Given the description of an element on the screen output the (x, y) to click on. 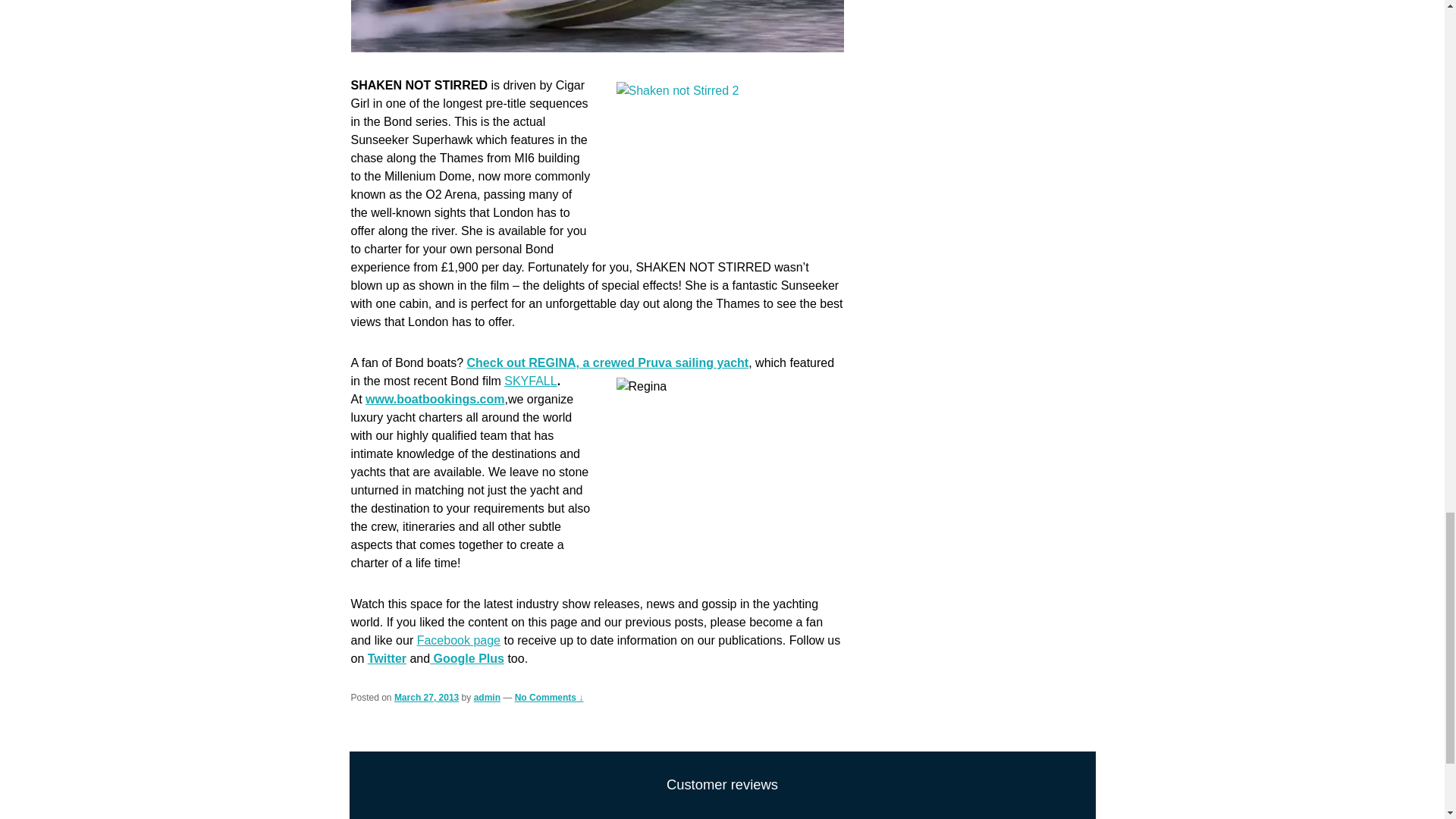
SKYFALL (529, 380)
Check out REGINA, a crewed Pruva sailing yacht (608, 362)
Charter Sunseeker SKYFALL (529, 380)
5:18 pm (426, 697)
Charter REGINA (608, 362)
Facebook page (458, 640)
www.boatbookings.com (434, 399)
